Given the description of an element on the screen output the (x, y) to click on. 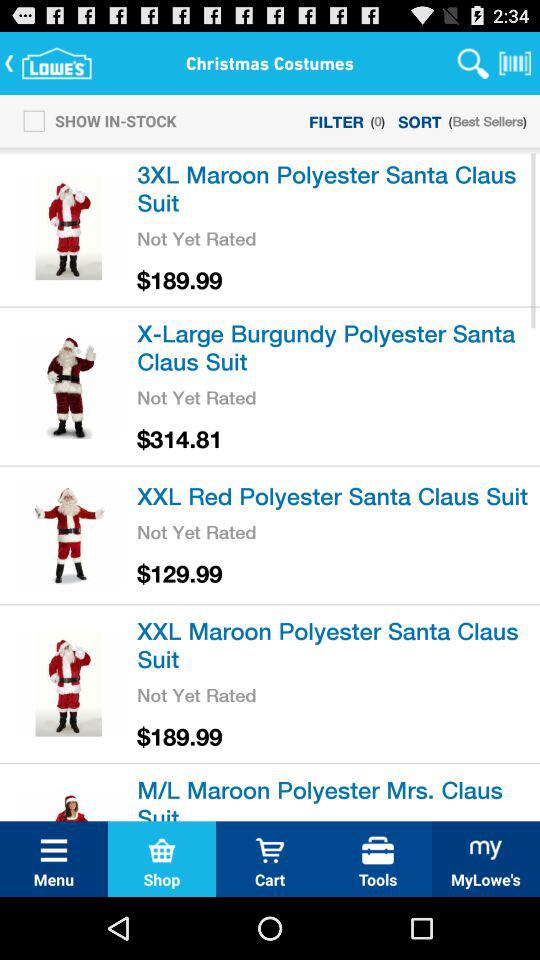
tap item to the left of the (0) icon (336, 120)
